Given the description of an element on the screen output the (x, y) to click on. 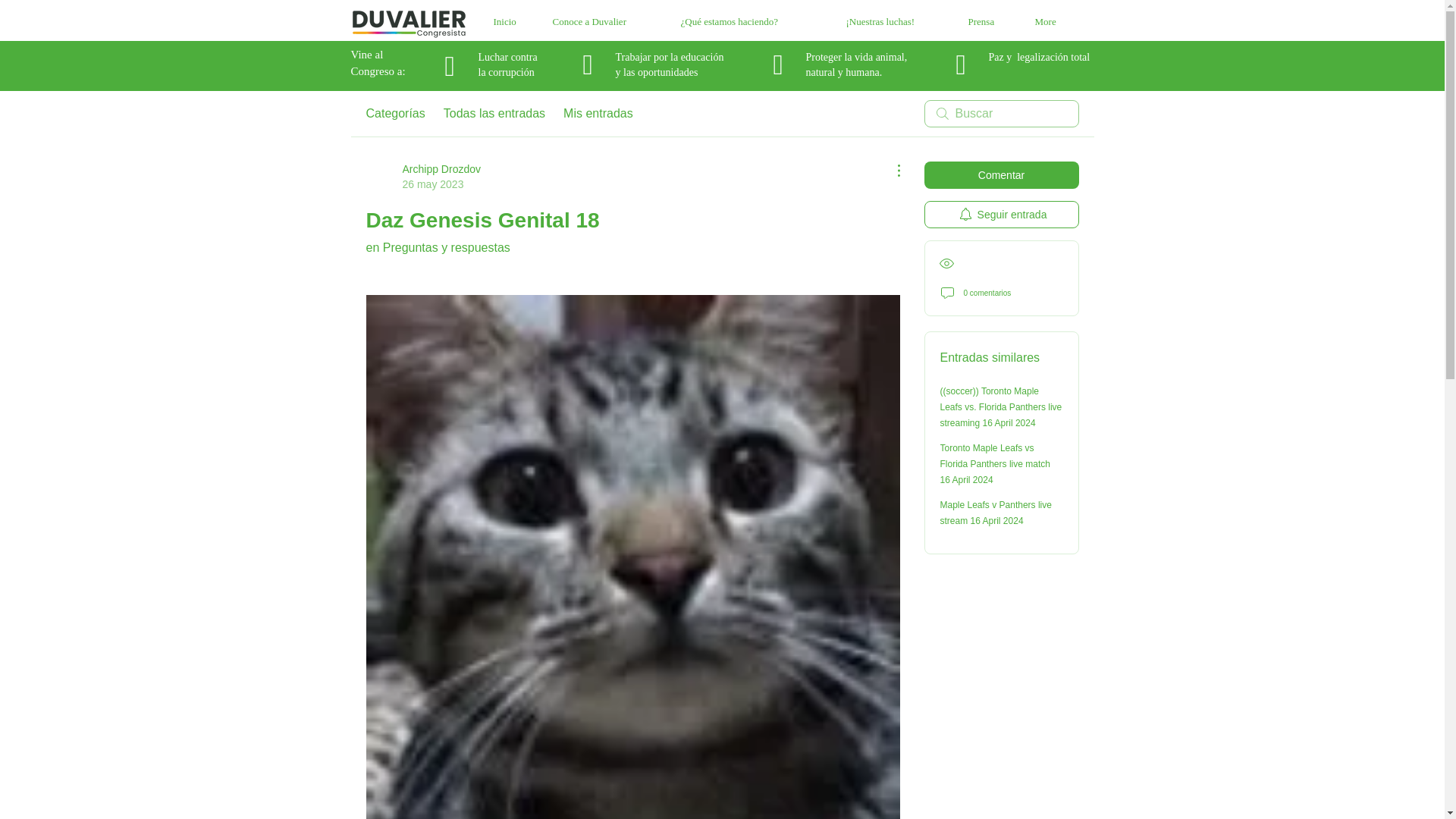
Todas las entradas (494, 113)
Inicio (507, 22)
en Preguntas y respuestas (437, 246)
Comentar (422, 176)
Maple Leafs v Panthers live stream 16 April 2024 (1000, 175)
Mis entradas (995, 512)
Seguir entrada (598, 113)
Prensa (1000, 214)
